Given the description of an element on the screen output the (x, y) to click on. 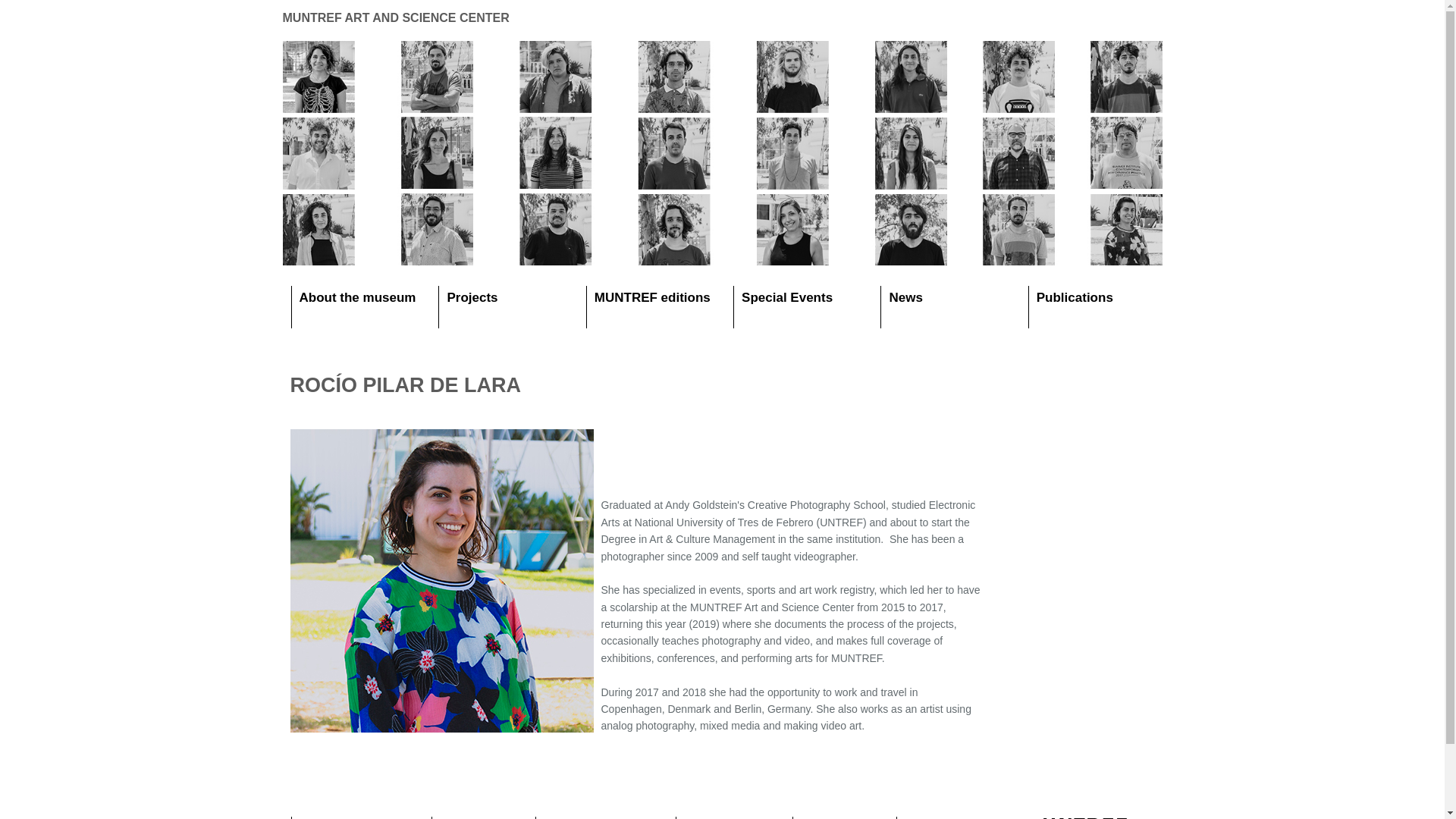
Projects (471, 297)
MUNTREF ART AND SCIENCE CENTER (395, 18)
About the museum (356, 297)
Special Events (786, 297)
MUNTREF editions (652, 297)
News (904, 297)
Publications (1074, 297)
